Given the description of an element on the screen output the (x, y) to click on. 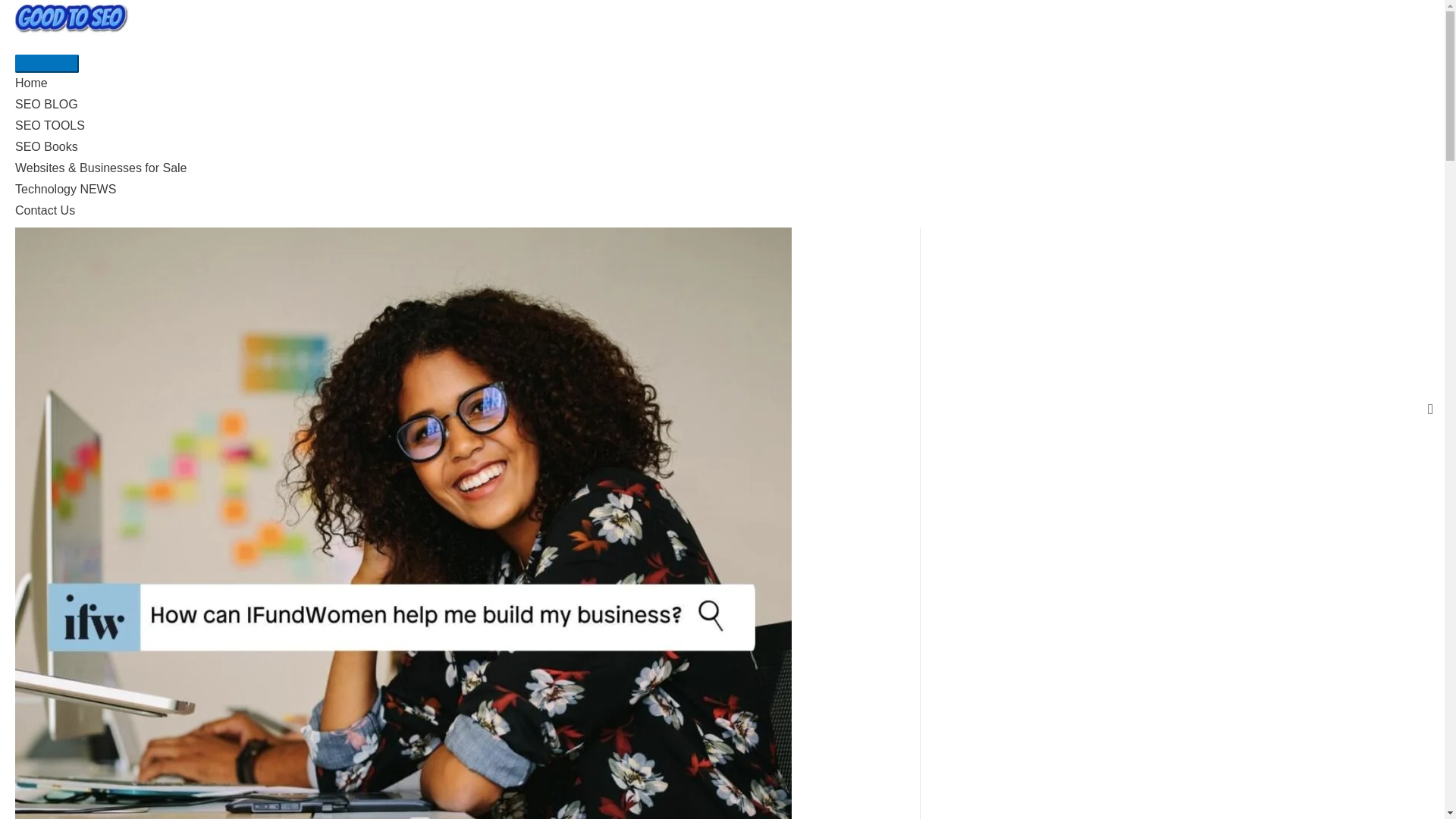
SEO TOOLS (721, 125)
Home (721, 83)
SEO BLOG (721, 104)
Contact Us (721, 210)
SEO Books (721, 147)
Technology NEWS (721, 189)
